Given the description of an element on the screen output the (x, y) to click on. 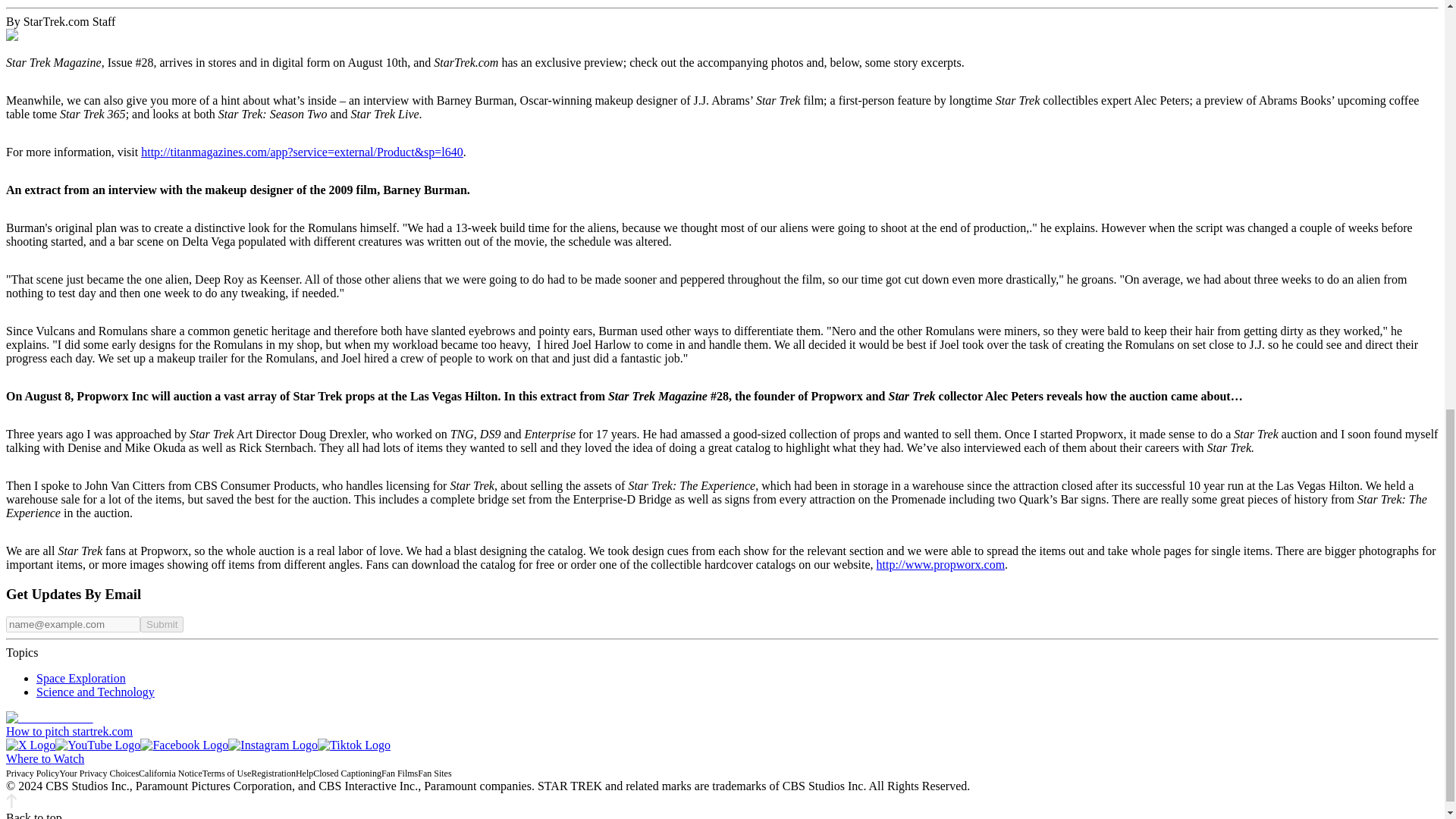
Privacy Policy (32, 773)
Fan Sites (434, 773)
Closed Captioning (347, 773)
California Notice (170, 773)
Fan Films (399, 773)
Submit (161, 624)
Help (304, 773)
Registration (272, 773)
How to pitch startrek.com (68, 730)
Where to Watch (44, 758)
